Given the description of an element on the screen output the (x, y) to click on. 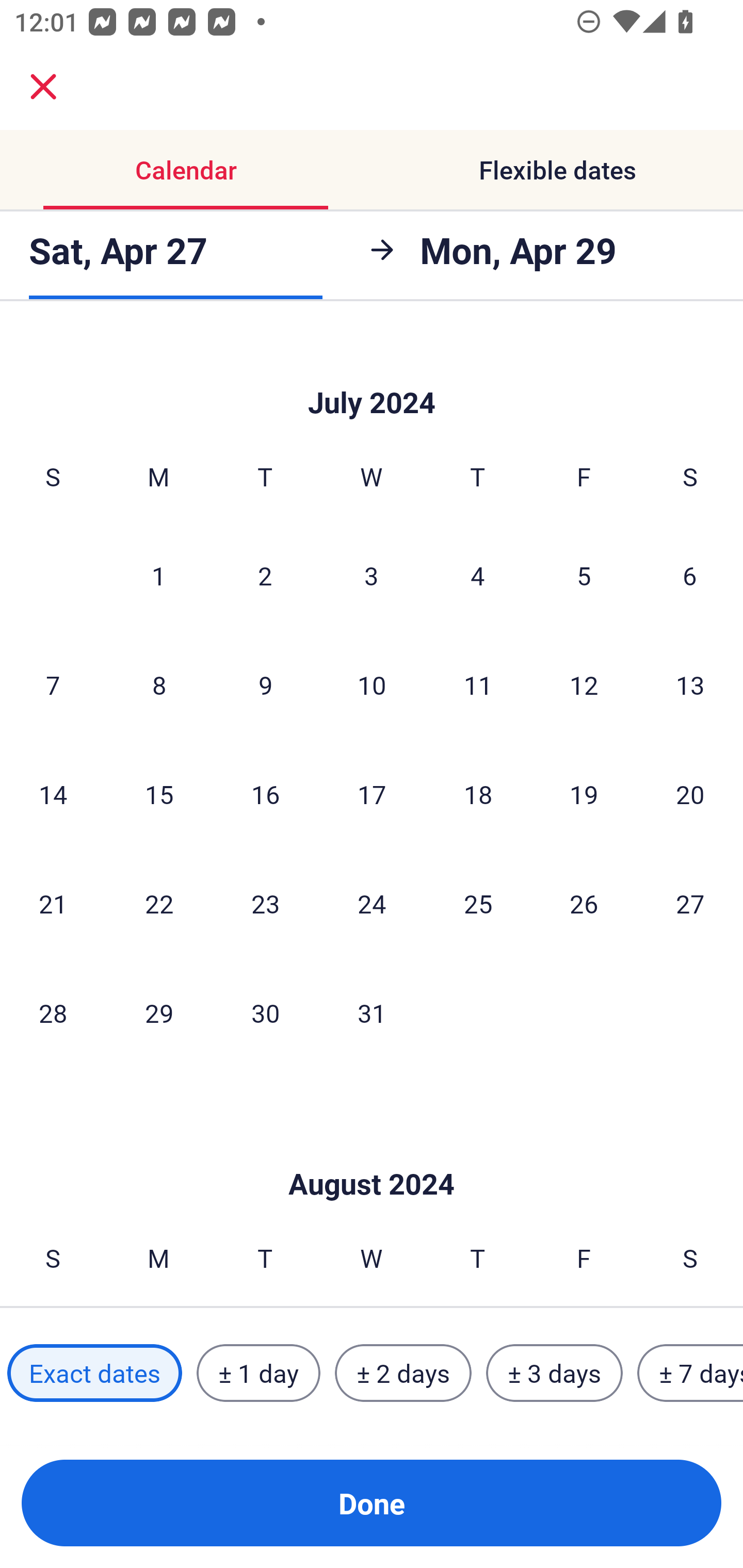
close. (43, 86)
Flexible dates (557, 170)
Skip to Done (371, 372)
1 Monday, July 1, 2024 (158, 575)
2 Tuesday, July 2, 2024 (264, 575)
3 Wednesday, July 3, 2024 (371, 575)
4 Thursday, July 4, 2024 (477, 575)
5 Friday, July 5, 2024 (583, 575)
6 Saturday, July 6, 2024 (689, 575)
7 Sunday, July 7, 2024 (53, 683)
8 Monday, July 8, 2024 (159, 683)
9 Tuesday, July 9, 2024 (265, 683)
10 Wednesday, July 10, 2024 (371, 683)
11 Thursday, July 11, 2024 (477, 683)
12 Friday, July 12, 2024 (584, 683)
13 Saturday, July 13, 2024 (690, 683)
14 Sunday, July 14, 2024 (53, 793)
15 Monday, July 15, 2024 (159, 793)
16 Tuesday, July 16, 2024 (265, 793)
17 Wednesday, July 17, 2024 (371, 793)
18 Thursday, July 18, 2024 (477, 793)
19 Friday, July 19, 2024 (584, 793)
20 Saturday, July 20, 2024 (690, 793)
21 Sunday, July 21, 2024 (53, 902)
22 Monday, July 22, 2024 (159, 902)
23 Tuesday, July 23, 2024 (265, 902)
24 Wednesday, July 24, 2024 (371, 902)
25 Thursday, July 25, 2024 (477, 902)
26 Friday, July 26, 2024 (584, 902)
27 Saturday, July 27, 2024 (690, 902)
28 Sunday, July 28, 2024 (53, 1012)
29 Monday, July 29, 2024 (159, 1012)
30 Tuesday, July 30, 2024 (265, 1012)
31 Wednesday, July 31, 2024 (371, 1012)
Skip to Done (371, 1153)
Exact dates (94, 1372)
± 1 day (258, 1372)
± 2 days (403, 1372)
± 3 days (553, 1372)
± 7 days (690, 1372)
Done (371, 1502)
